Given the description of an element on the screen output the (x, y) to click on. 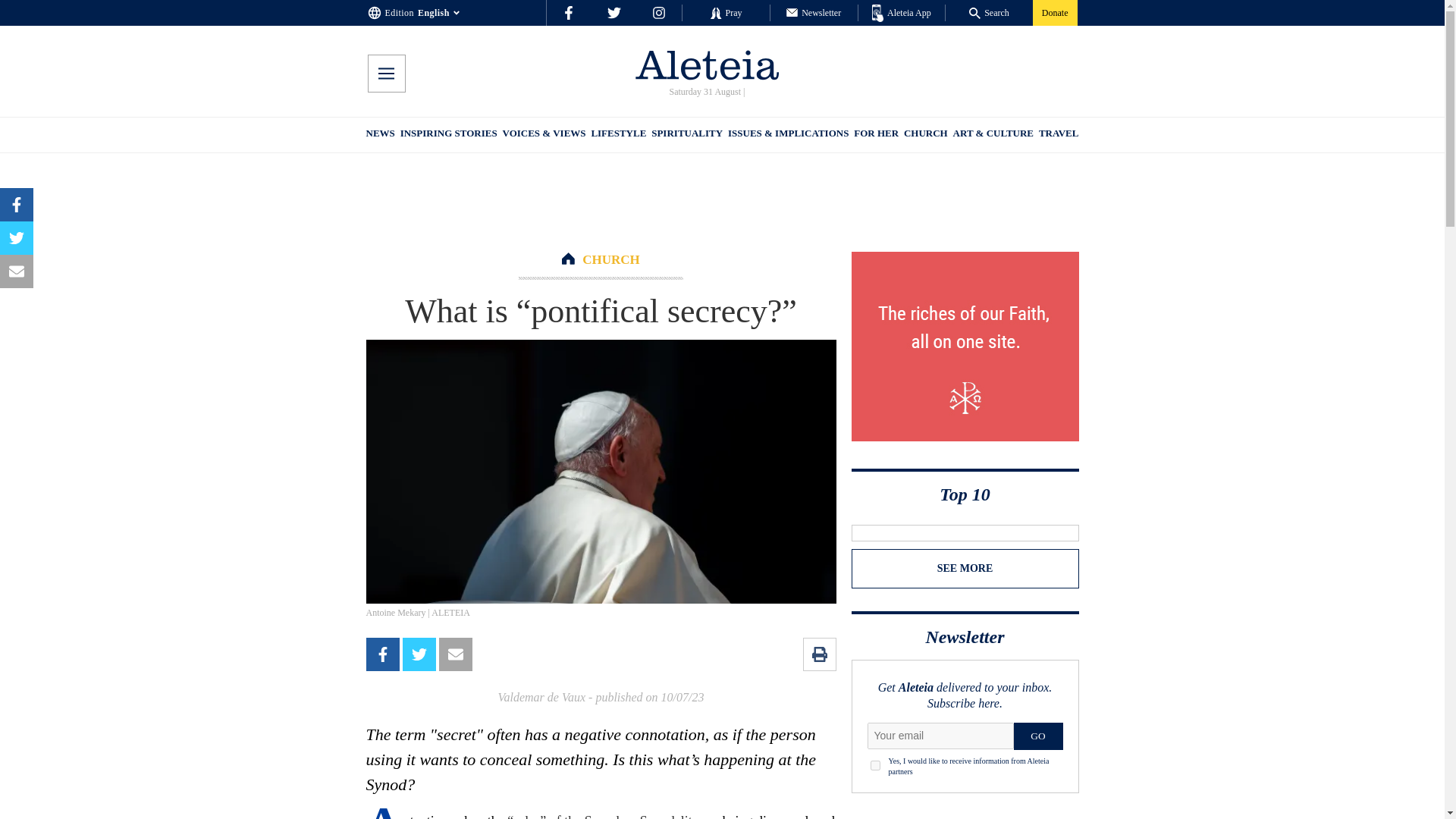
Aleteia App (901, 13)
Newsletter (813, 12)
rules of the next Synod on Synodality (602, 816)
Search (989, 12)
INSPIRING STORIES (448, 134)
SPIRITUALITY (686, 134)
CHURCH (611, 259)
FOR HER (875, 134)
LIFESTYLE (618, 134)
Donate (1054, 12)
